Given the description of an element on the screen output the (x, y) to click on. 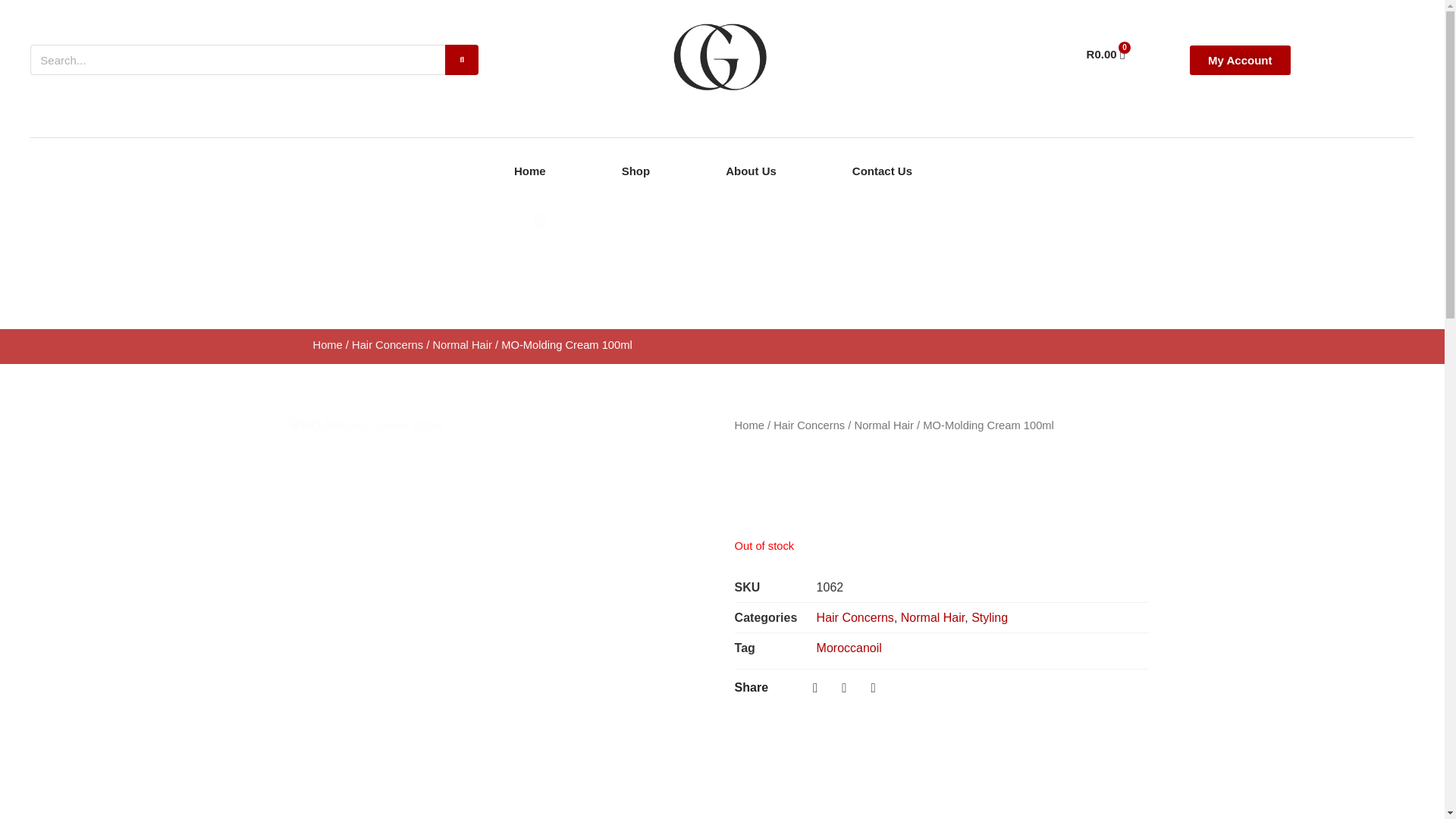
Normal Hair (932, 617)
Hair Concerns (854, 617)
Moroccanoil (849, 647)
Hair Concerns (387, 344)
About Us (750, 171)
Styling (989, 617)
Home (749, 425)
Normal Hair (462, 344)
Hair Concerns (808, 425)
Contact Us (881, 171)
My Account (1106, 53)
Home (1239, 60)
Normal Hair (327, 344)
MO-Molding Cream 100ml (884, 425)
